Given the description of an element on the screen output the (x, y) to click on. 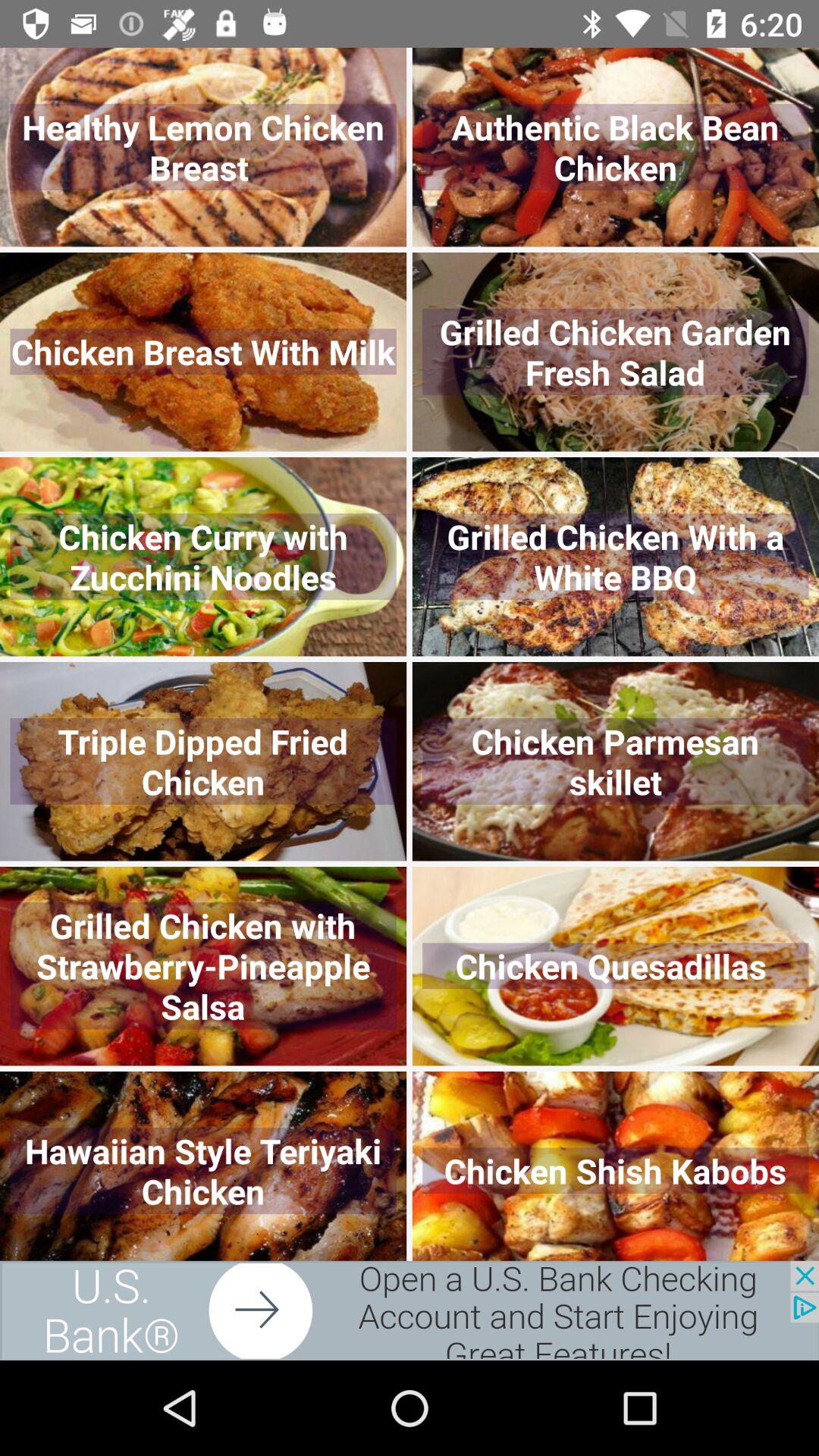
advertisement (409, 1310)
